Given the description of an element on the screen output the (x, y) to click on. 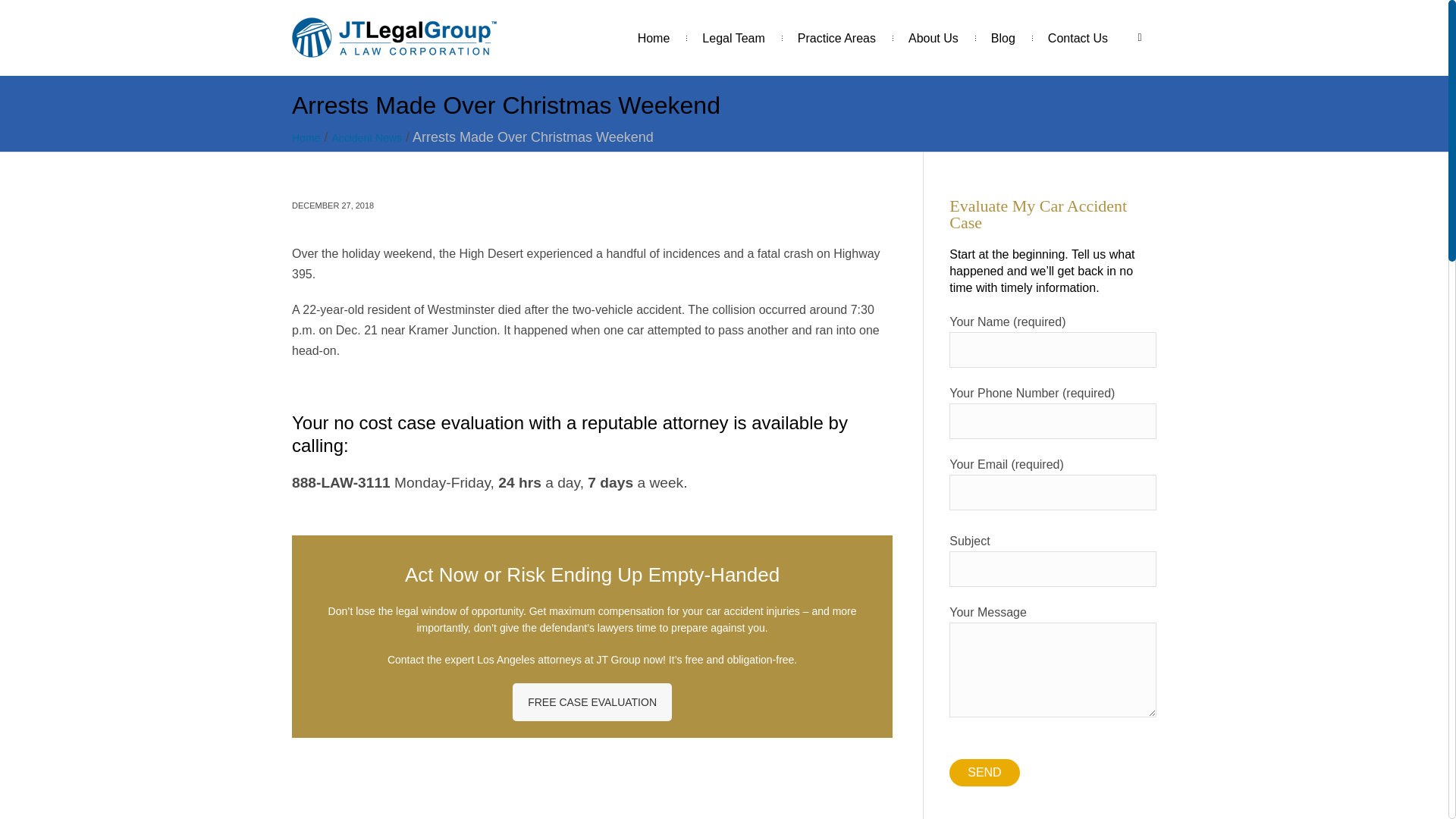
Send (984, 772)
Contact Us (1078, 37)
About Us (933, 37)
Legal Team (732, 37)
Practice Areas (836, 37)
Home (653, 37)
FREE CASE EVALUATION (591, 702)
Accident News (366, 137)
December 27, 2018 (333, 205)
Blog (1002, 37)
